Given the description of an element on the screen output the (x, y) to click on. 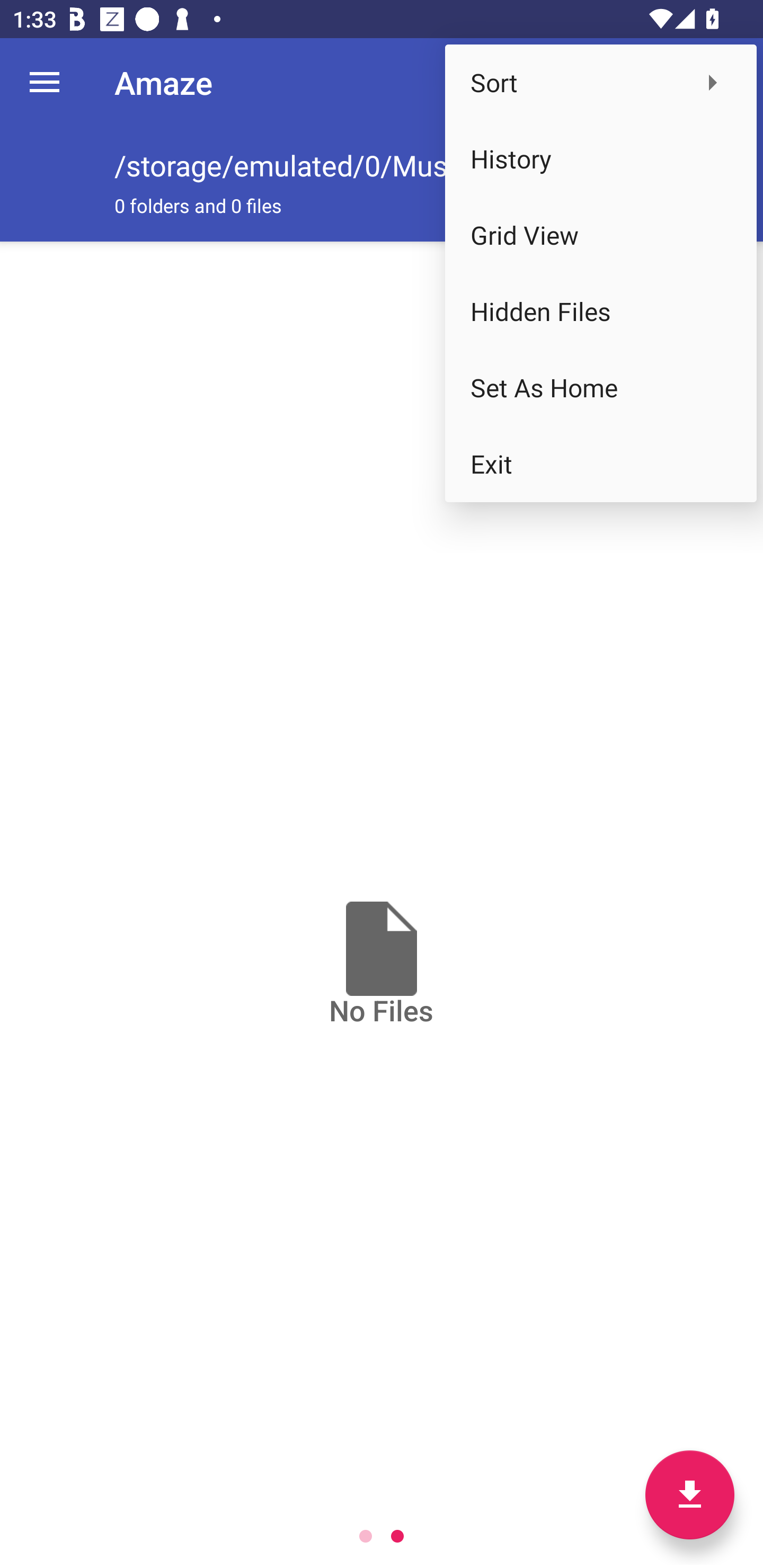
Sort (600, 81)
History (600, 158)
Grid View (600, 234)
Hidden Files (600, 310)
Set As Home (600, 387)
Exit (600, 463)
